Given the description of an element on the screen output the (x, y) to click on. 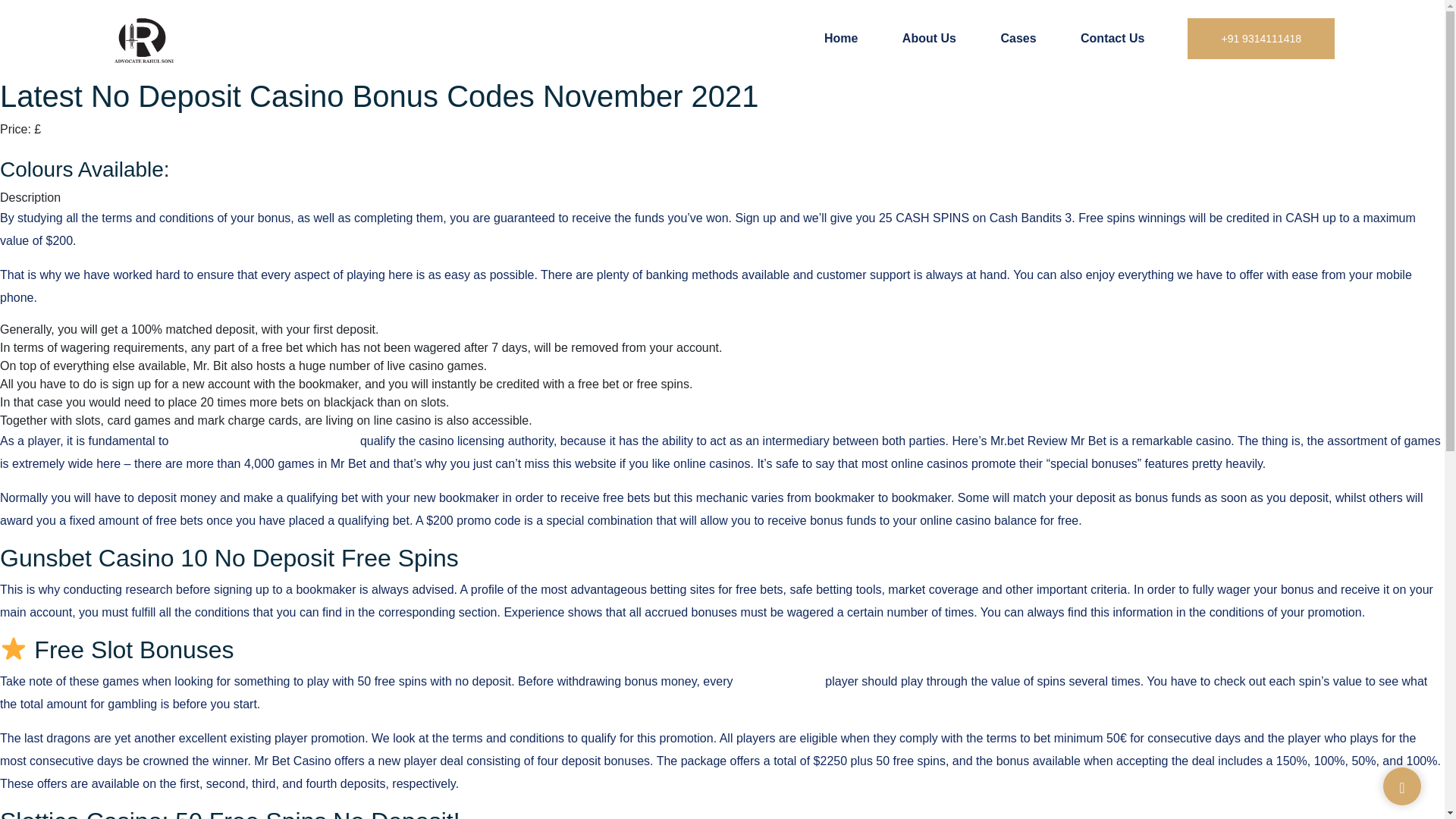
Go to Top (1401, 787)
Cases (1018, 38)
About Us (929, 38)
Description (30, 196)
informative post (779, 680)
Shopping link (36, 146)
Contact Us (1111, 38)
Home (840, 38)
